Given the description of an element on the screen output the (x, y) to click on. 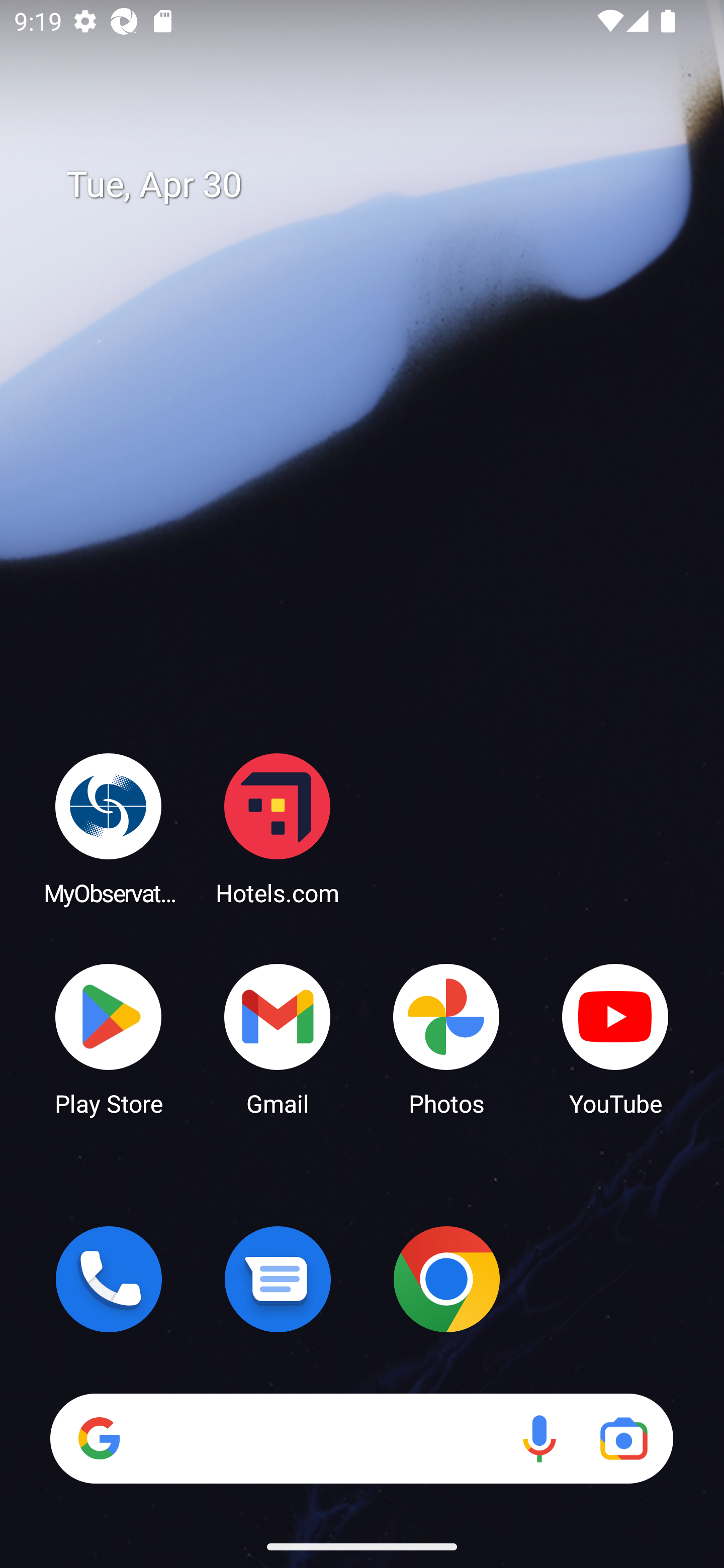
Tue, Apr 30 (375, 184)
MyObservatory (108, 828)
Hotels.com (277, 828)
Play Store (108, 1038)
Gmail (277, 1038)
Photos (445, 1038)
YouTube (615, 1038)
Phone (108, 1279)
Messages (277, 1279)
Chrome (446, 1279)
Voice search (539, 1438)
Google Lens (623, 1438)
